Given the description of an element on the screen output the (x, y) to click on. 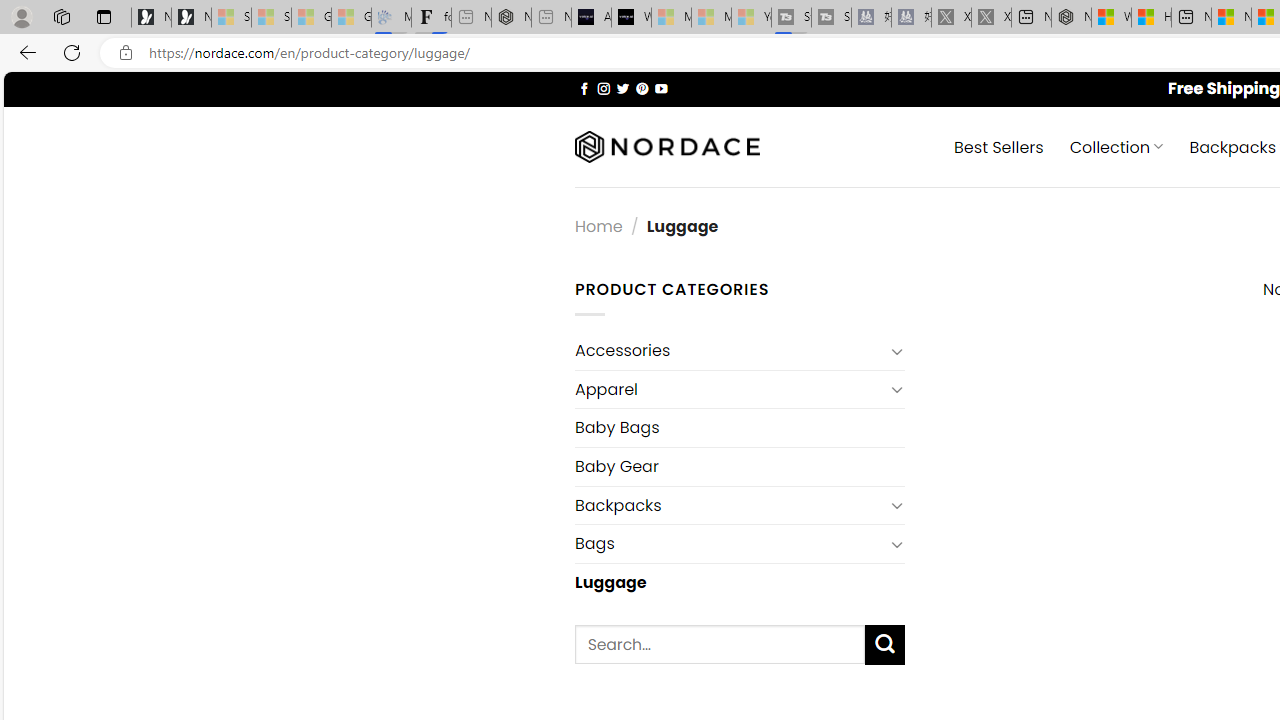
Search for: (720, 644)
Baby Gear (739, 465)
Apparel (729, 389)
Baby Gear (739, 466)
Accessories (729, 350)
Follow on Instagram (603, 88)
Microsoft Start - Sleeping (711, 17)
